Given the description of an element on the screen output the (x, y) to click on. 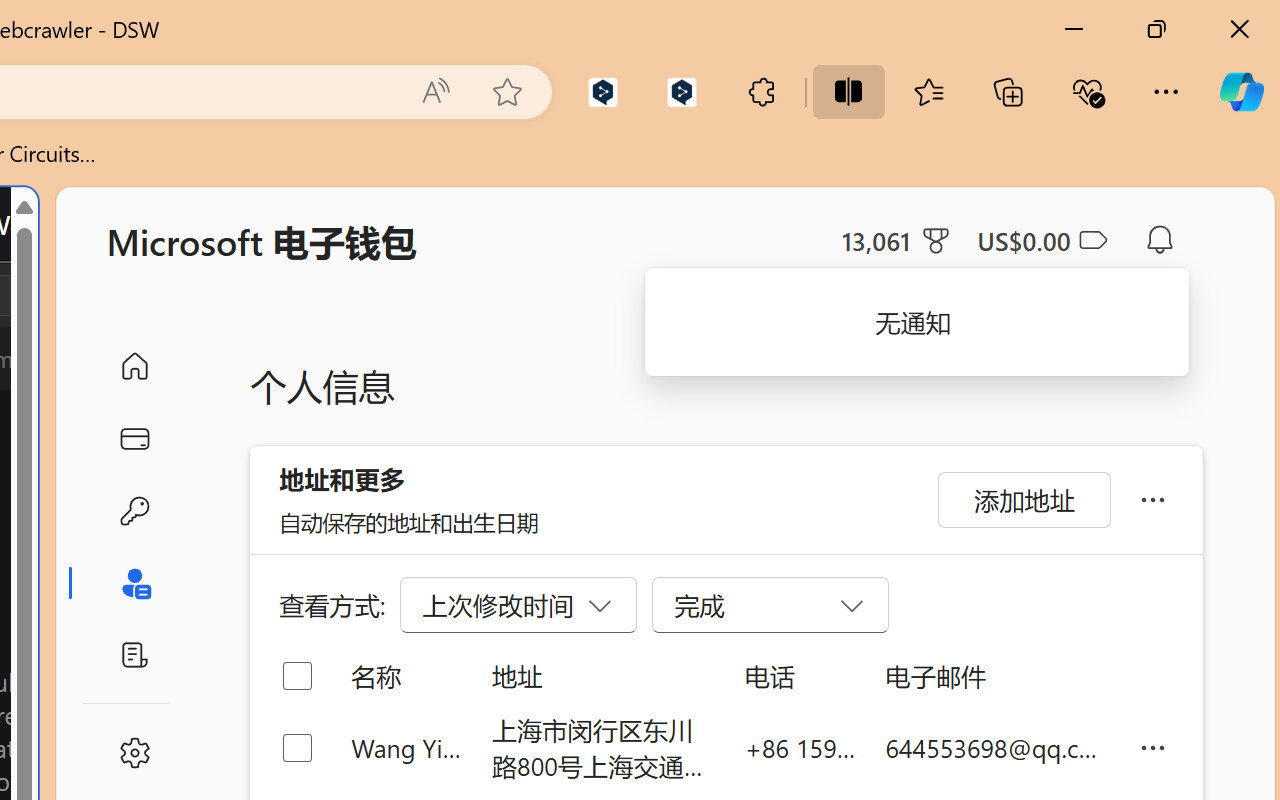
Copilot (Ctrl+Shift+.) (1241, 91)
Class: ___1lmltc5 f1agt3bx f12qytpq (1092, 241)
